Given the description of an element on the screen output the (x, y) to click on. 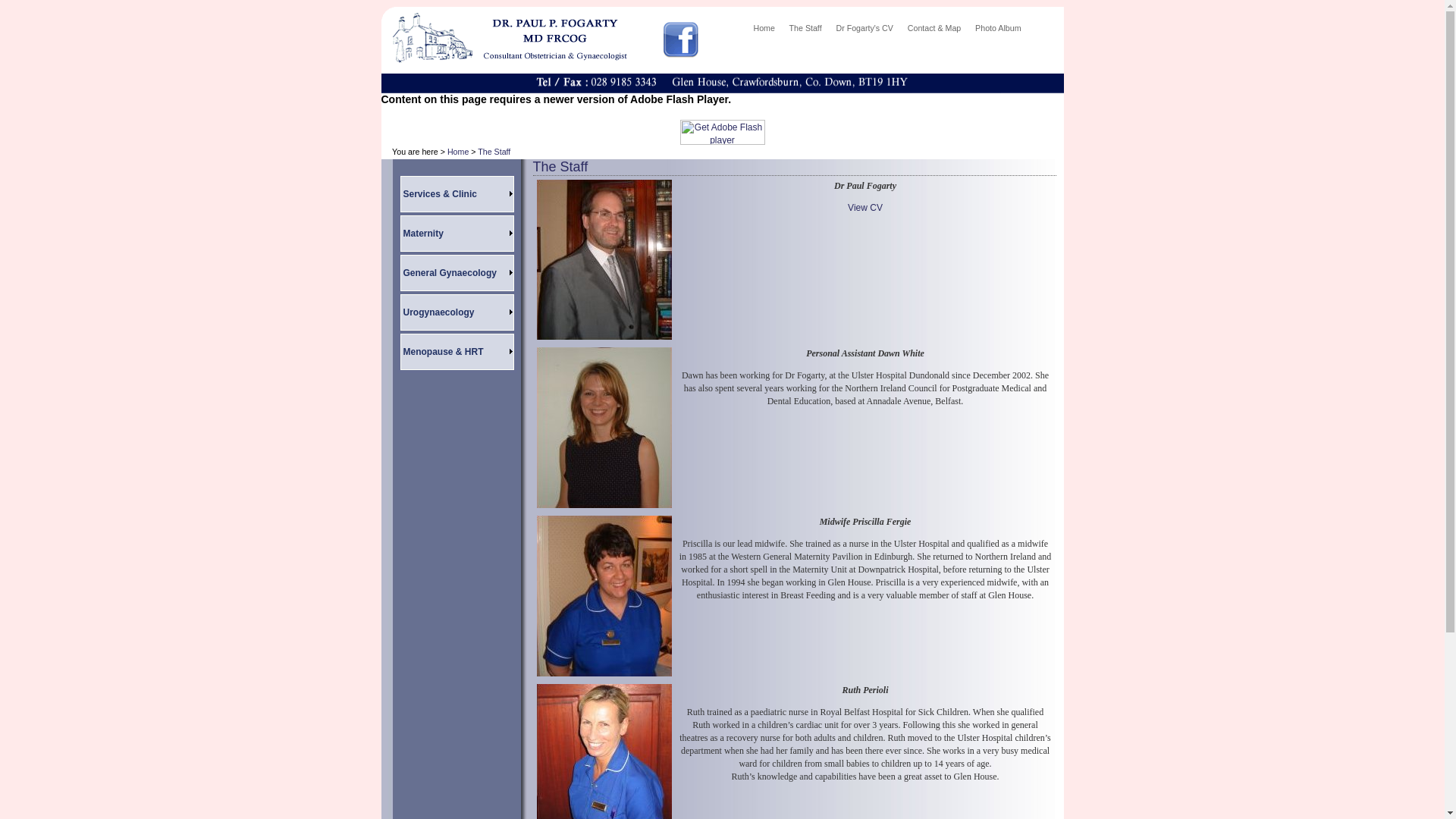
Dr Fogarty Private Maternity Care Staff (456, 272)
Dr Fogarty Private Maternity Care Staff (456, 233)
Urogynaecology in Northern ireland (456, 312)
Urogynaecology (456, 312)
General Gynaecology (456, 272)
The Staff (494, 151)
  Photo Album   (996, 33)
Dr Fogarty Private Maternity Care Staff (805, 33)
Photo Album (996, 33)
